Given the description of an element on the screen output the (x, y) to click on. 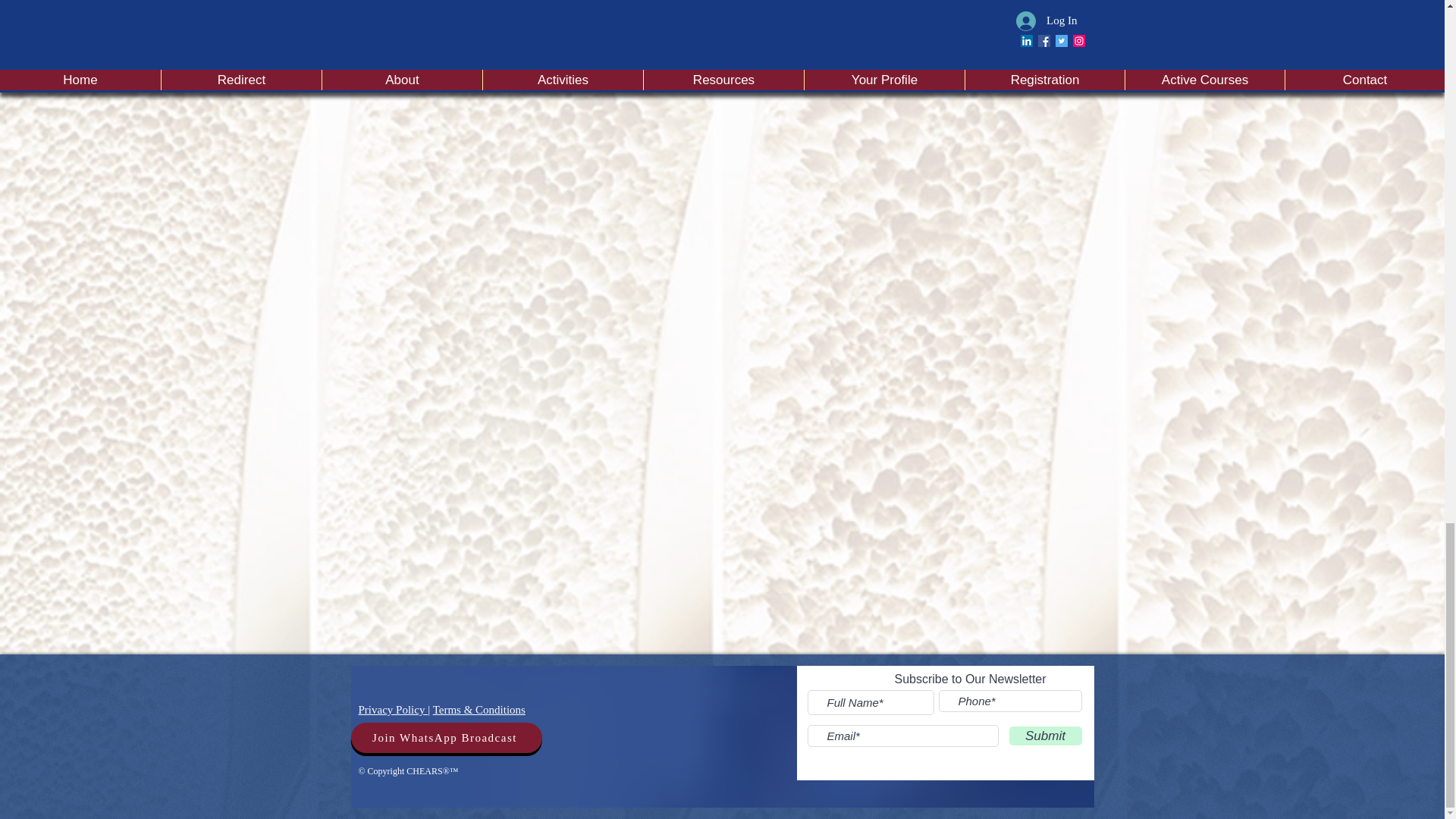
Submit (1045, 735)
Join WhatsApp Broadcast (445, 737)
Privacy Policy (393, 709)
